Given the description of an element on the screen output the (x, y) to click on. 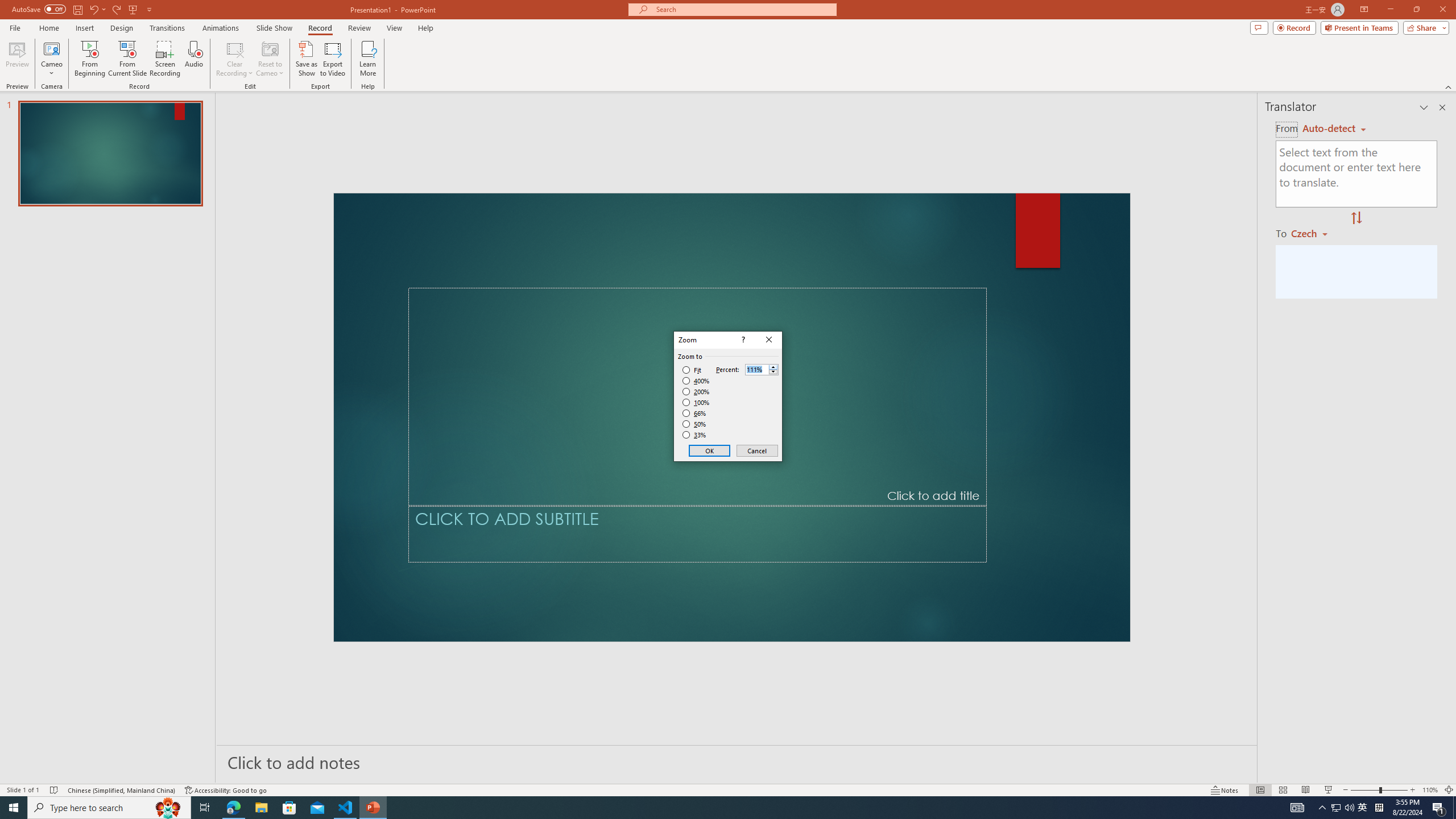
Percent (761, 369)
OK (709, 450)
Auto-detect (1334, 128)
